Given the description of an element on the screen output the (x, y) to click on. 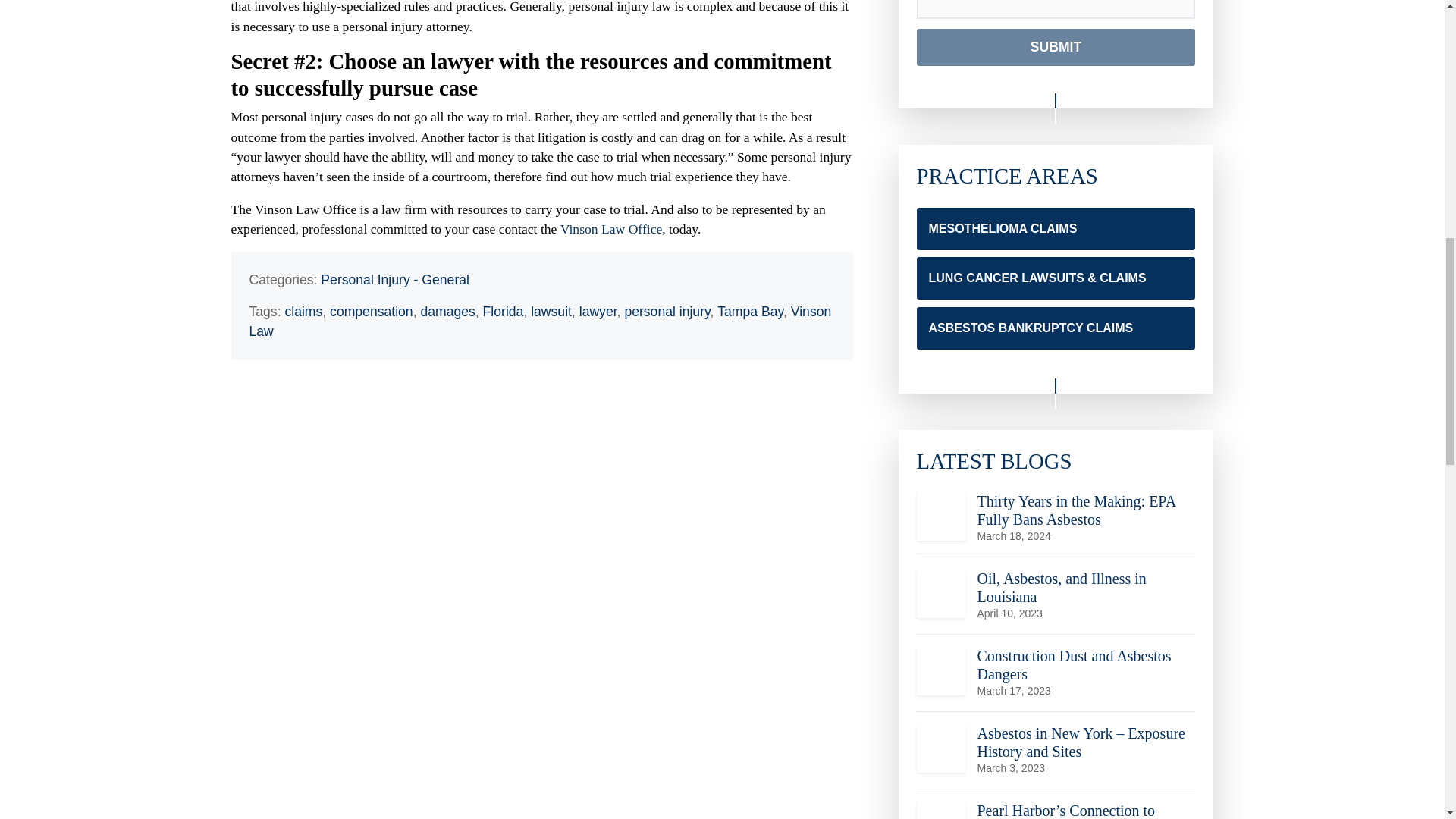
personal injury (667, 311)
lawyer (598, 311)
lawsuit (551, 311)
Vinson Law (539, 321)
Submit (1055, 15)
claims (302, 311)
Vinson Law Office (611, 228)
Florida (503, 311)
ASBESTOS BANKRUPTCY CLAIMS (1055, 565)
damages (1055, 291)
MESOTHELIOMA CLAIMS (447, 311)
compensation (1055, 642)
